Given the description of an element on the screen output the (x, y) to click on. 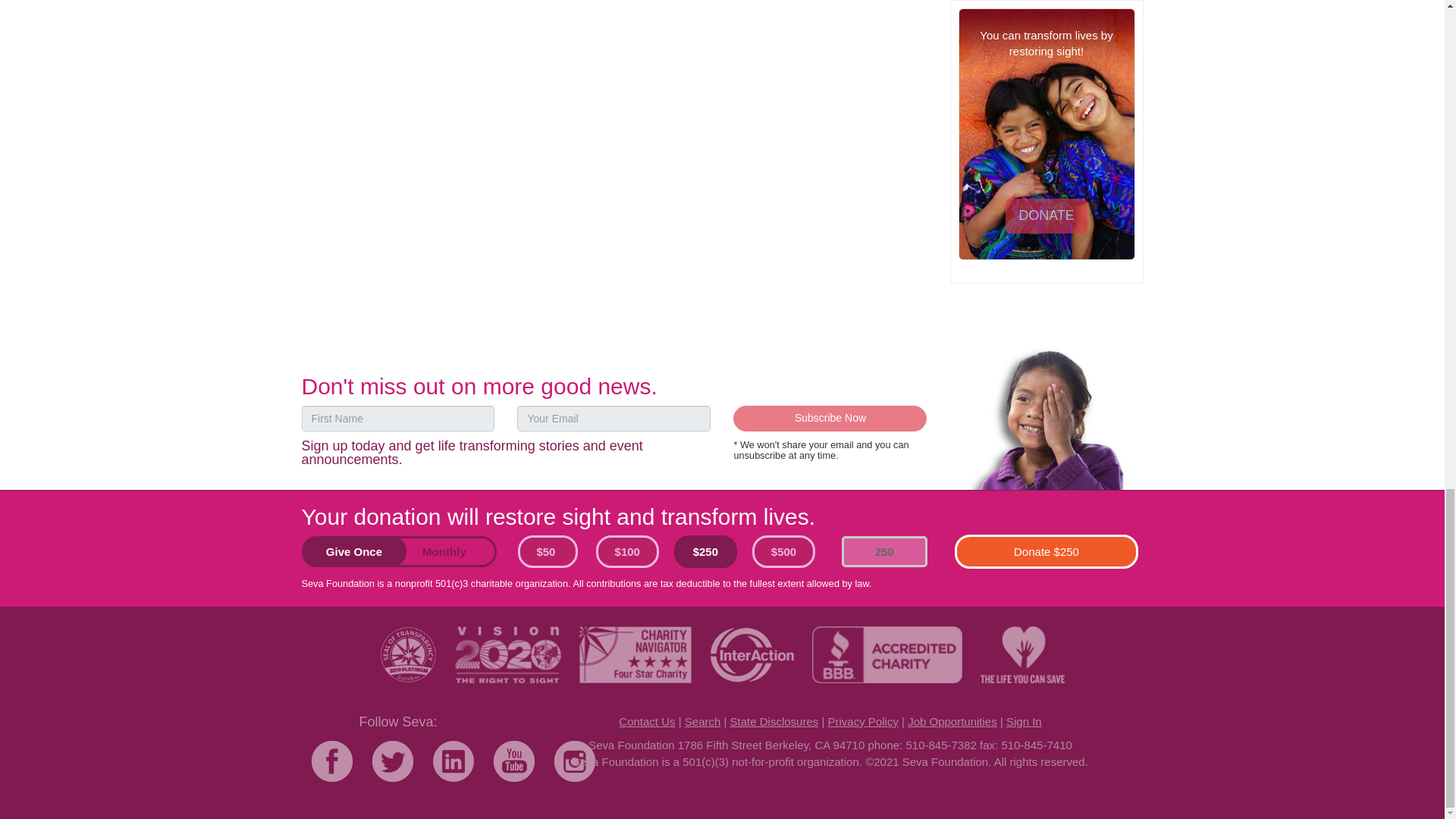
250 (884, 551)
